Given the description of an element on the screen output the (x, y) to click on. 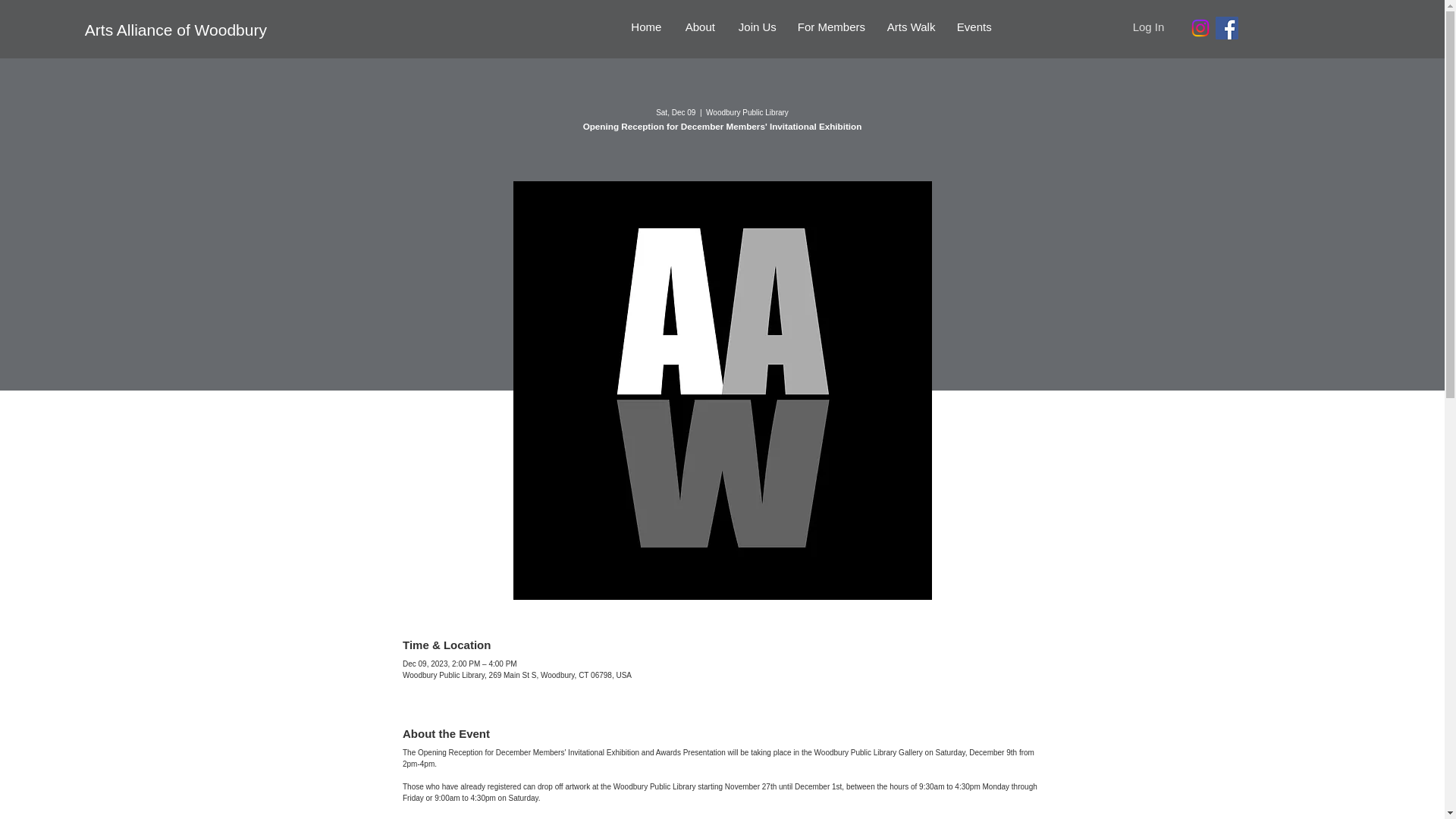
Events (972, 27)
For Members (831, 27)
Home (646, 27)
About (699, 27)
Arts Alliance of Woodbury (210, 30)
Join Us (756, 27)
Arts Walk (910, 27)
Log In (1148, 25)
